Given the description of an element on the screen output the (x, y) to click on. 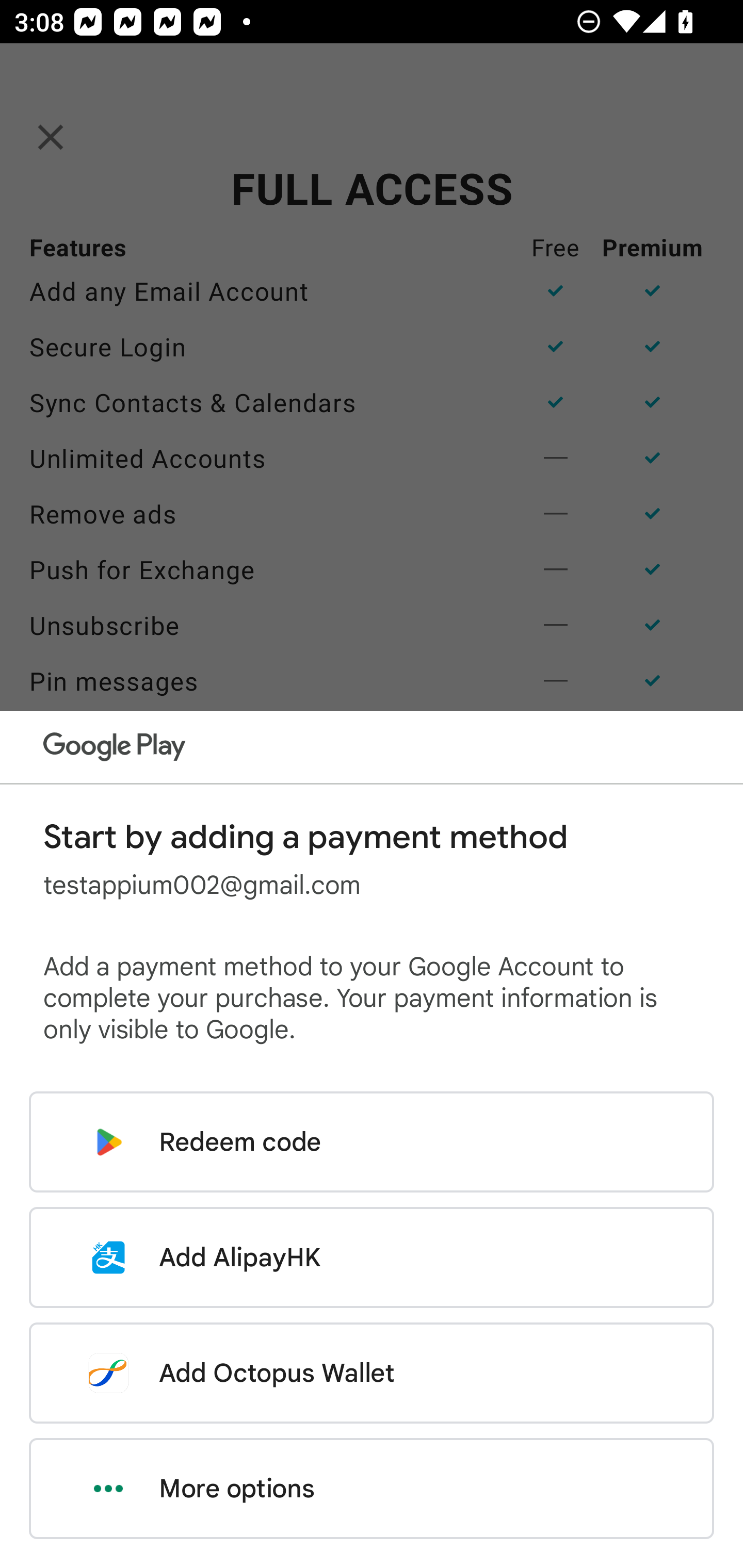
Redeem code (371, 1142)
Add AlipayHK (371, 1257)
Add Octopus Wallet (371, 1372)
More options (371, 1488)
